Given the description of an element on the screen output the (x, y) to click on. 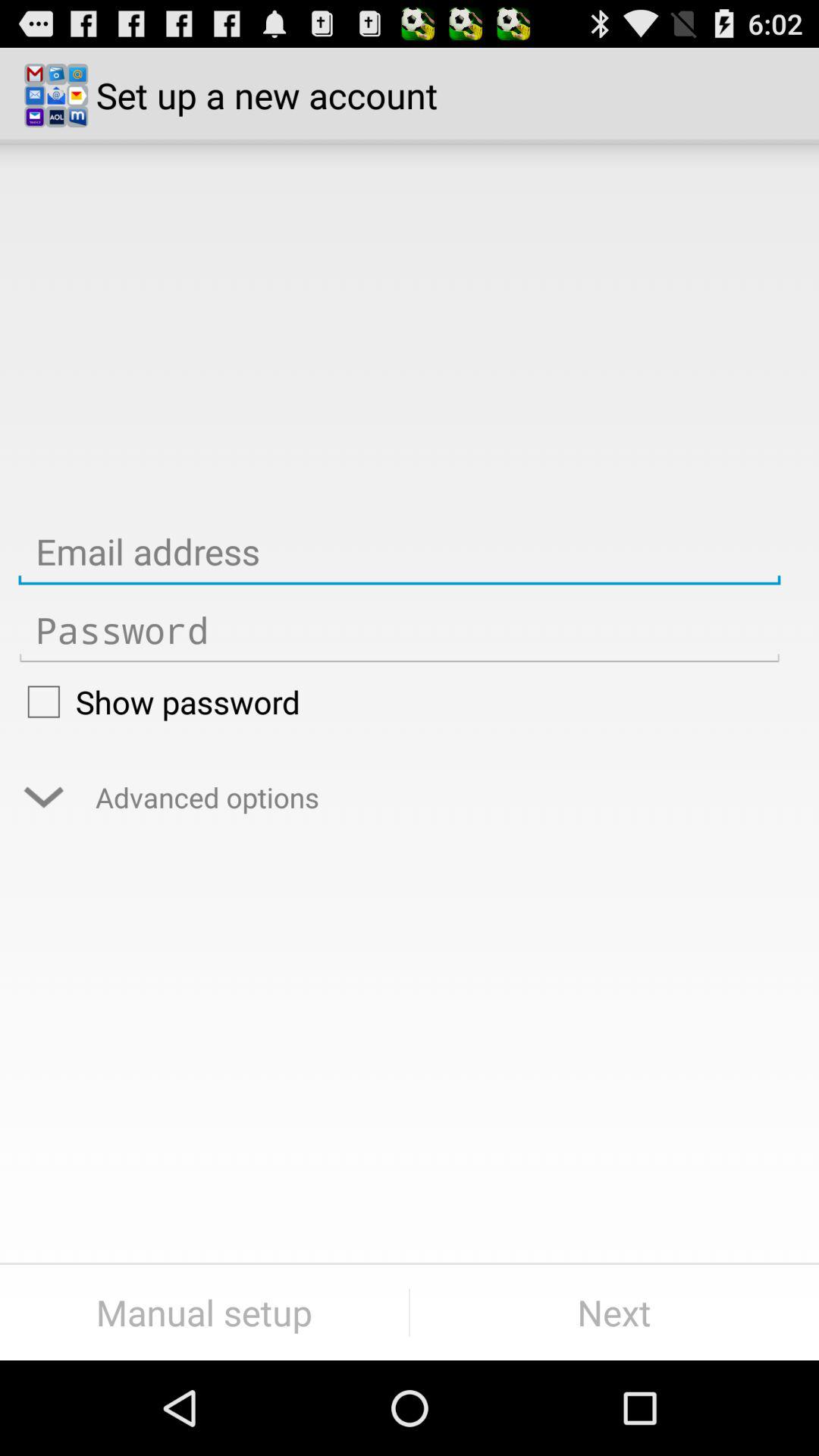
launch item next to manual setup (614, 1312)
